Given the description of an element on the screen output the (x, y) to click on. 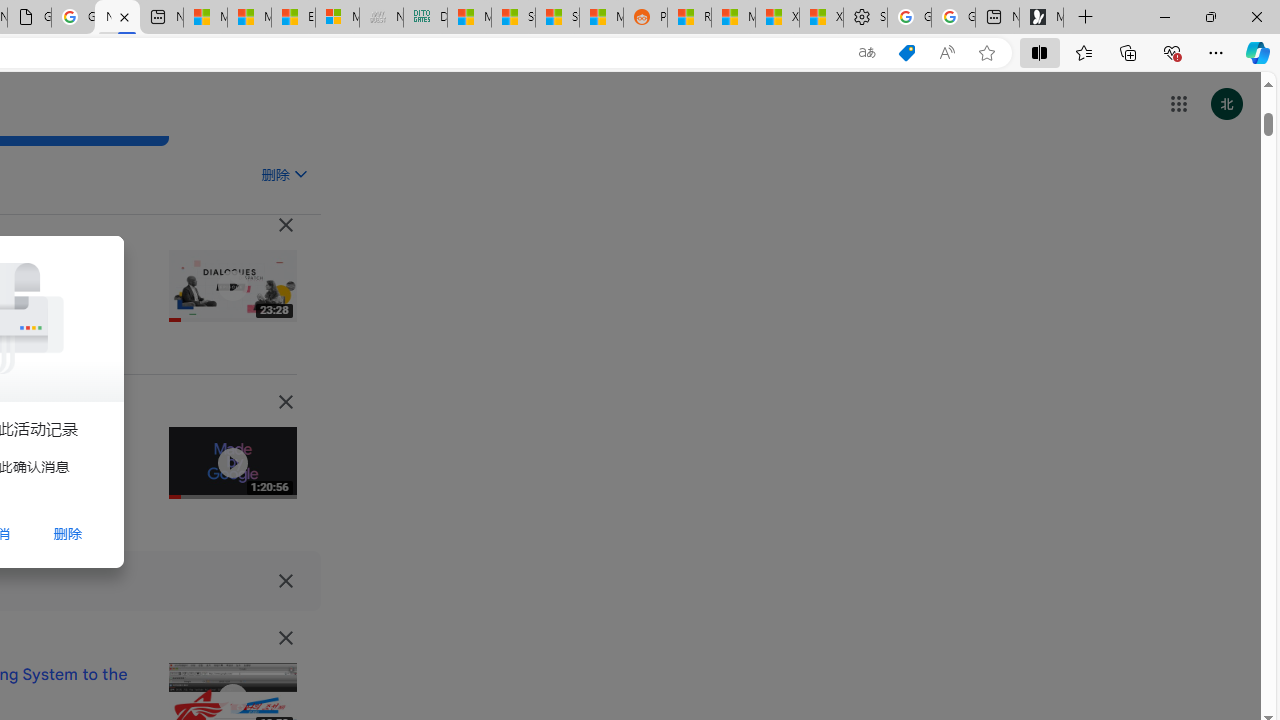
Class: TjcpUd NMm5M (285, 637)
Class: asE2Ub NMm5M (299, 173)
Entertainment - MSN (292, 17)
